Given the description of an element on the screen output the (x, y) to click on. 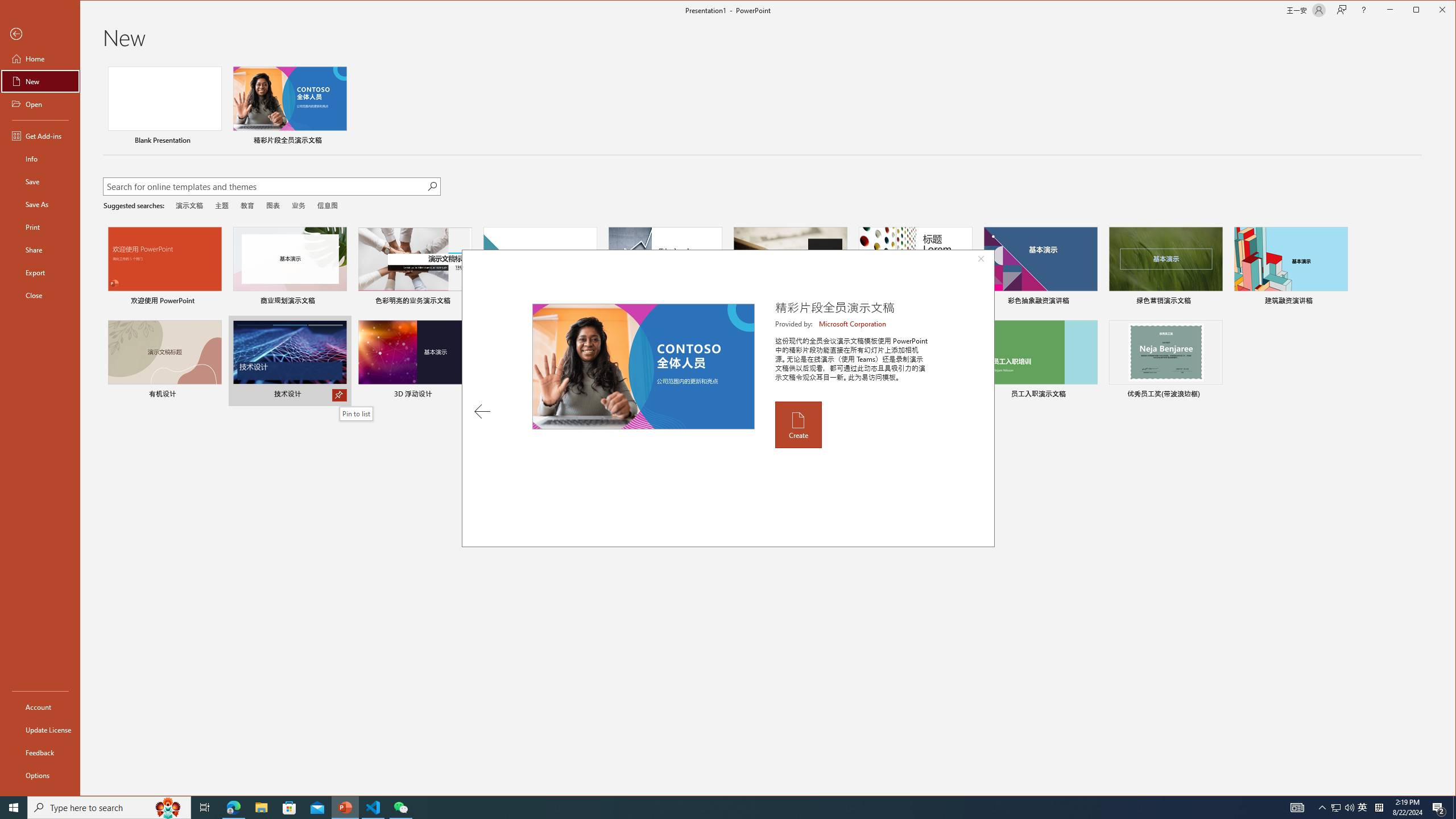
Account (40, 706)
Feedback (40, 752)
Create (797, 424)
Get Add-ins (40, 135)
Microsoft Edge - 1 running window (233, 807)
Start searching (431, 185)
Info (40, 158)
